Given the description of an element on the screen output the (x, y) to click on. 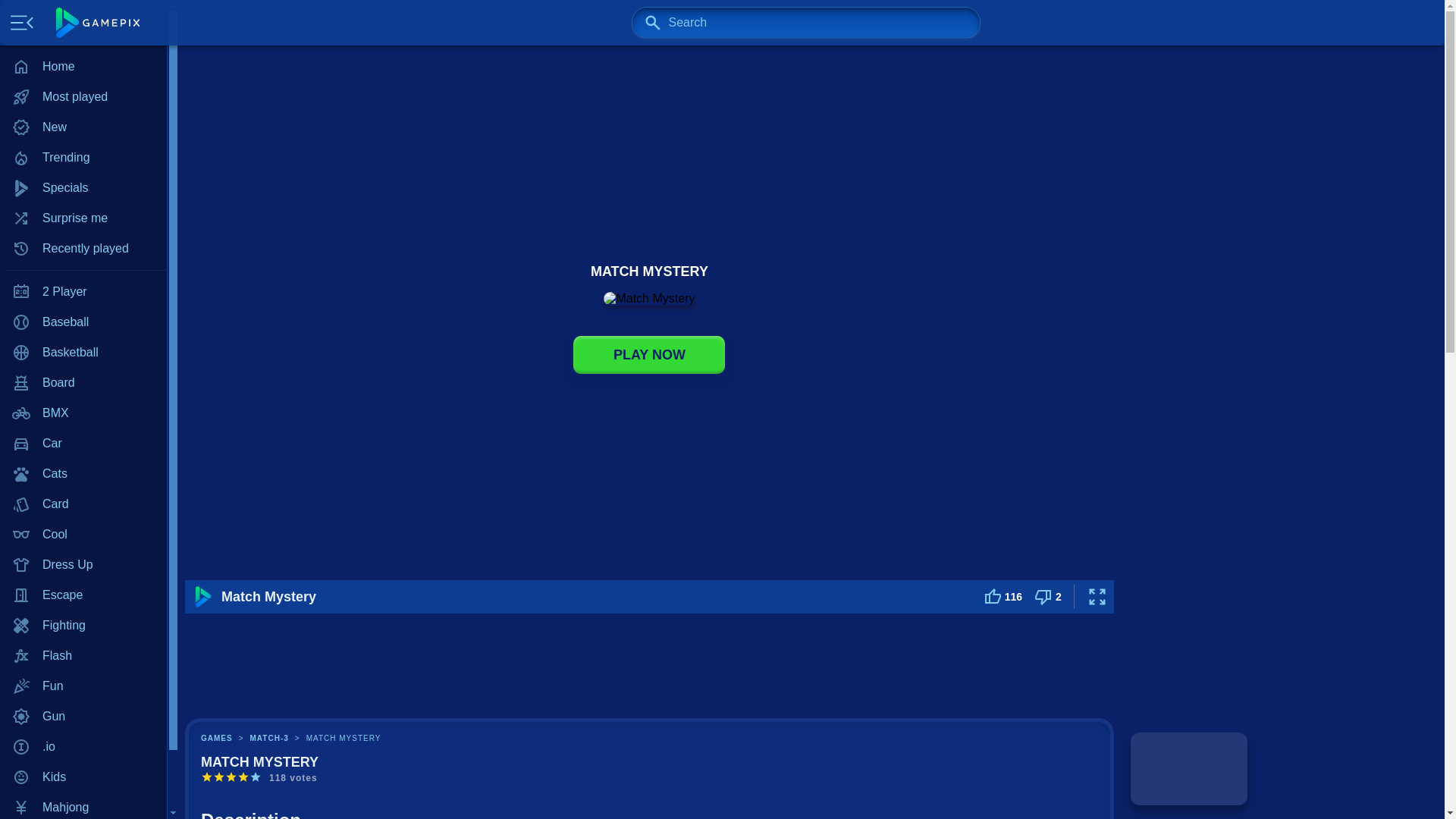
.io (83, 747)
Home (83, 66)
Board (83, 382)
Flash (83, 655)
BMX (83, 413)
Cats (83, 473)
2 Player (83, 291)
Kids (83, 777)
New (83, 127)
Fun (83, 685)
Cool (83, 534)
New (83, 127)
Basketball (83, 352)
Specials (83, 187)
Home (83, 66)
